Given the description of an element on the screen output the (x, y) to click on. 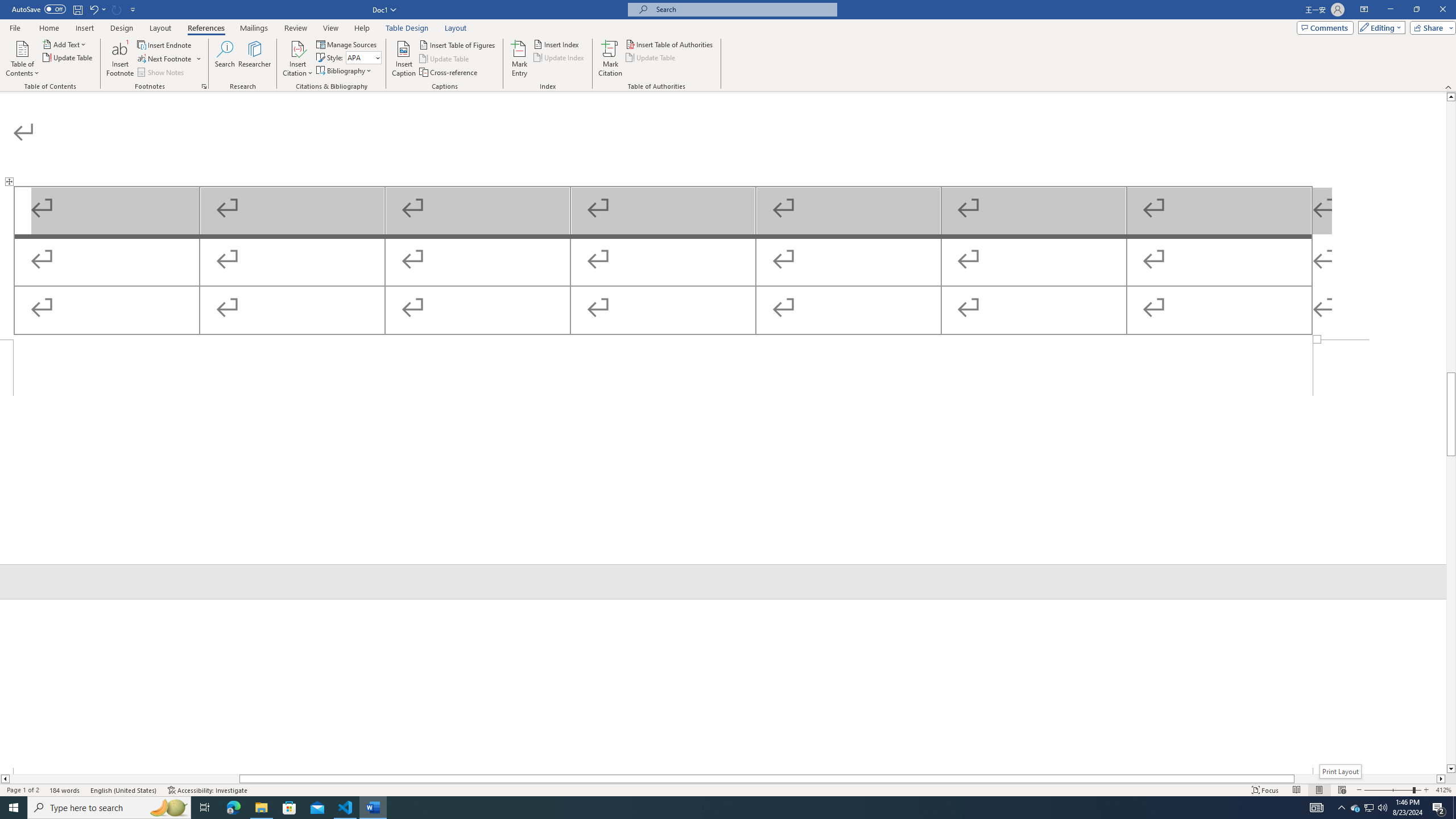
Next Footnote (169, 58)
Insert Citation (297, 58)
